Given the description of an element on the screen output the (x, y) to click on. 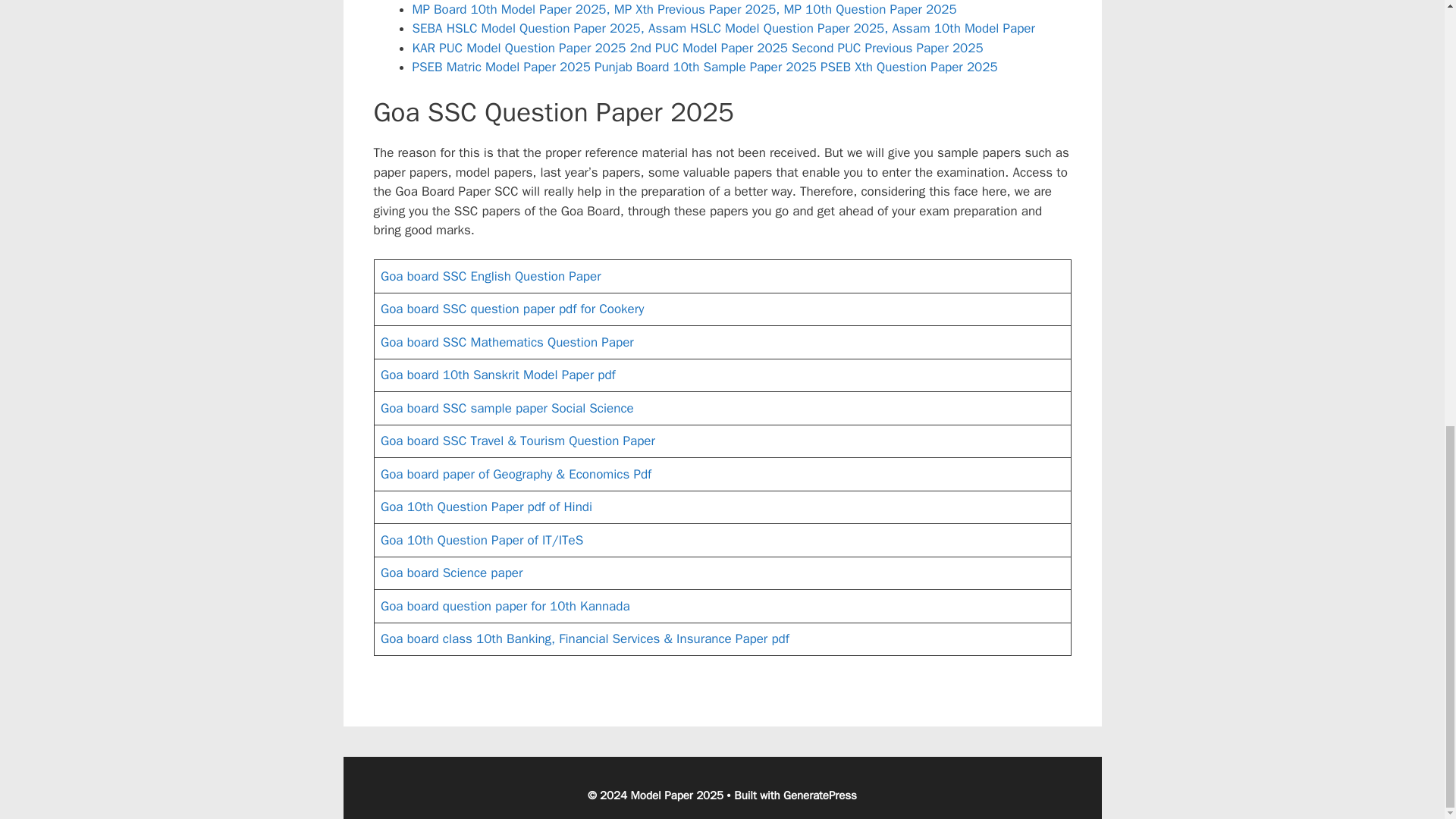
Goa board SSC Mathematics Question Paper  (508, 342)
Goa board 10th Sanskrit Model Paper pdf (497, 374)
Goa 10th Question Paper pdf of Hindi (486, 506)
Goa board SSC sample paper Social Science  (508, 408)
Goa board SSC question paper pdf for Cookery (511, 308)
Goa board SSC English Question Paper  (492, 276)
GeneratePress (820, 795)
Goa board Science paper  (452, 572)
Goa board question paper for 10th Kannada (505, 606)
